Given the description of an element on the screen output the (x, y) to click on. 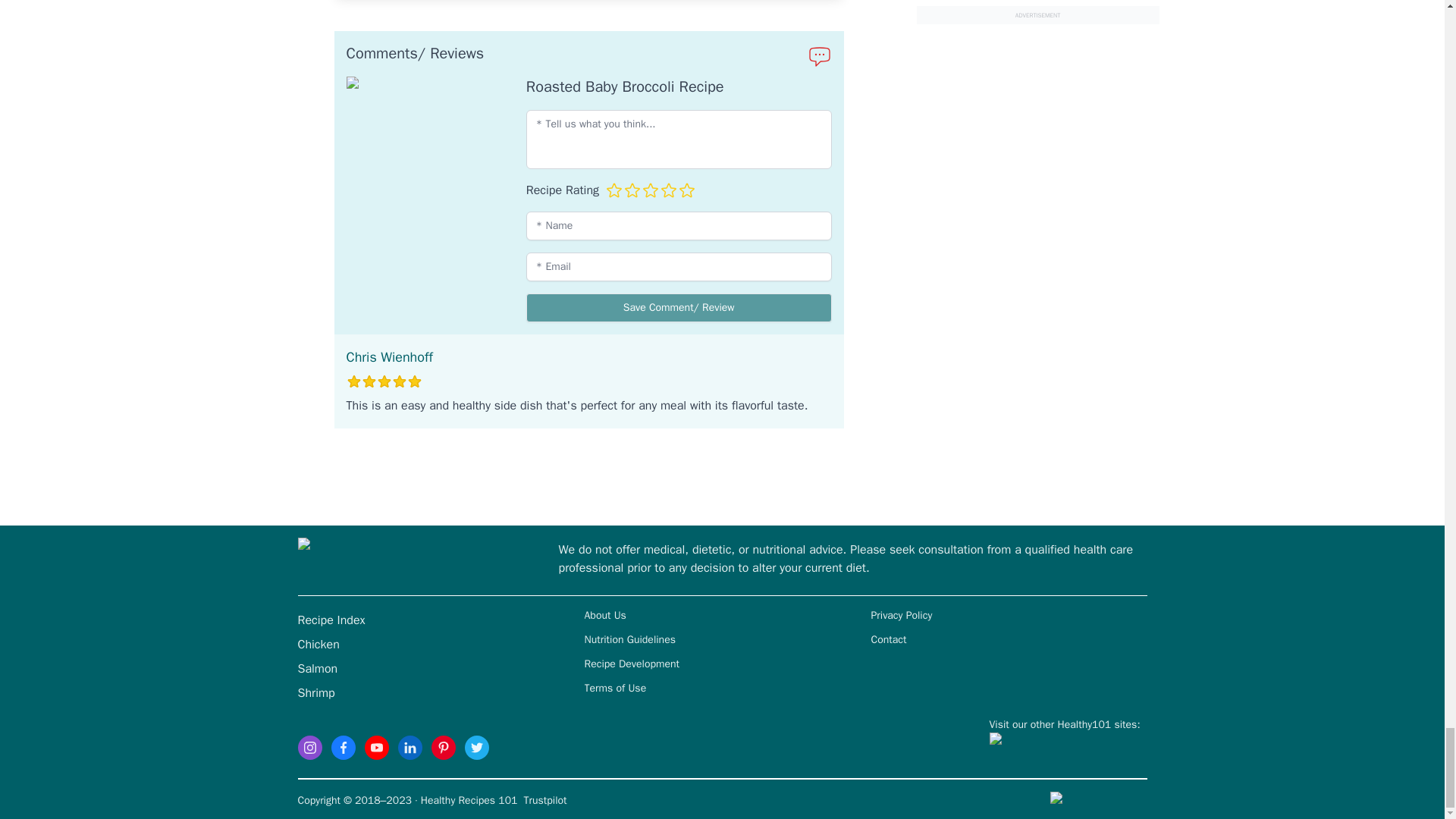
Shrimp (315, 693)
Recipe Index (331, 620)
Chicken (318, 644)
Salmon (317, 668)
Nutrition Guidelines (629, 638)
